Given the description of an element on the screen output the (x, y) to click on. 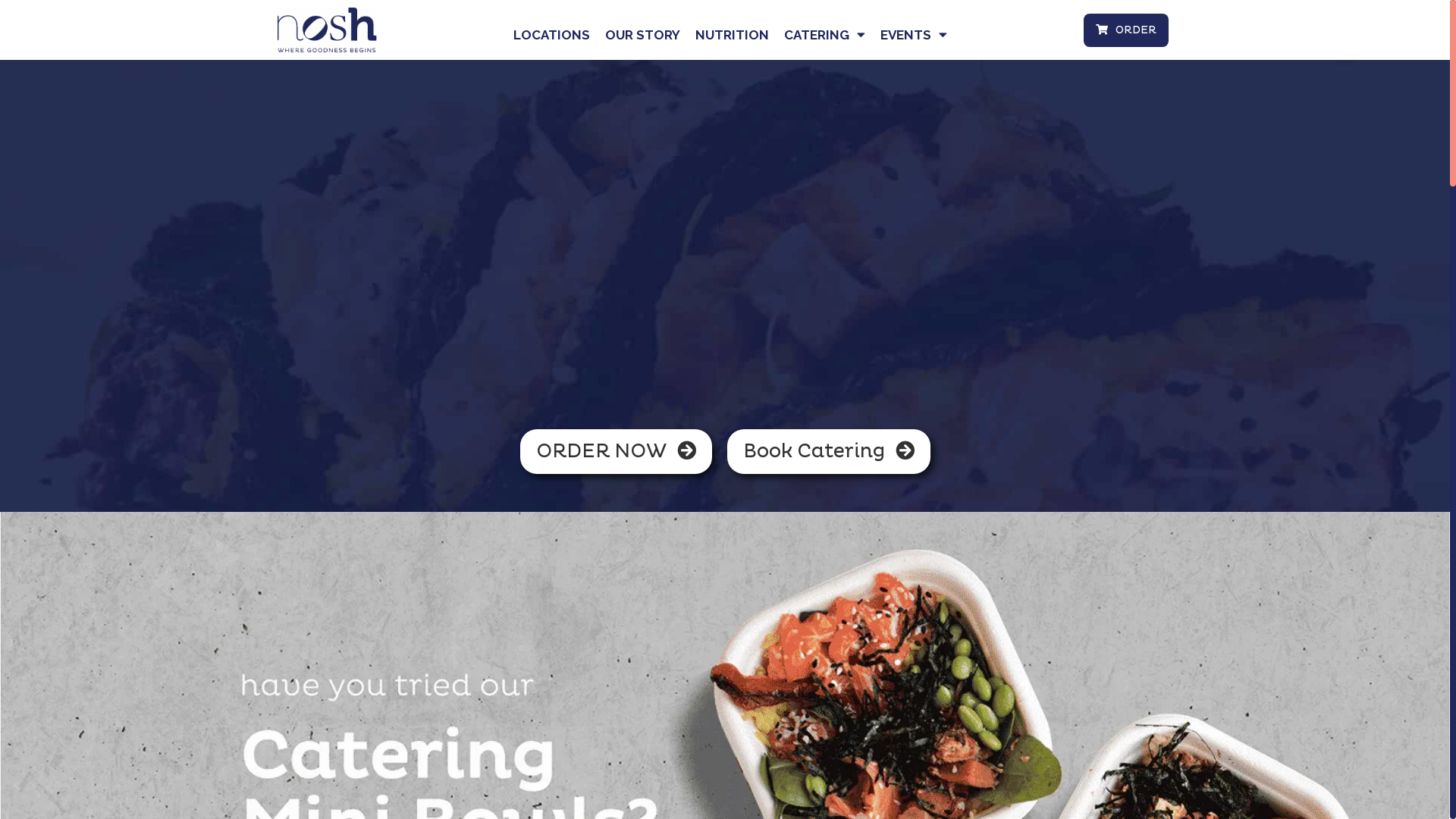
LOCATIONS Element type: text (551, 34)
NUTRITION Element type: text (731, 34)
ORDER Element type: text (1125, 30)
Book Catering Element type: text (827, 451)
EVENTS Element type: text (913, 34)
CATERING Element type: text (824, 34)
ORDER NOW Element type: text (616, 451)
OUR STORY Element type: text (642, 34)
